Given the description of an element on the screen output the (x, y) to click on. 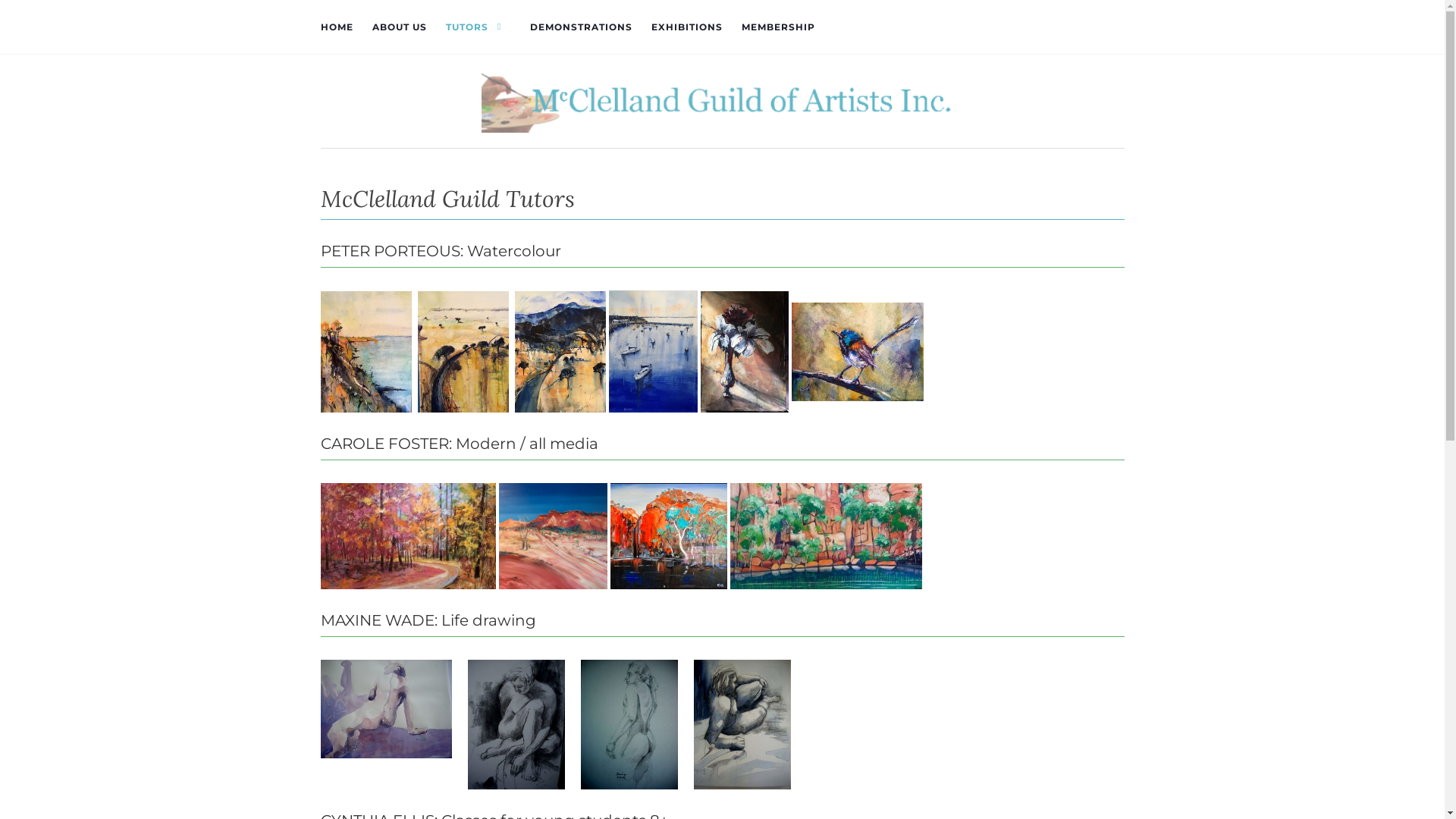
ABOUT US Element type: text (398, 26)
TUTORS Element type: text (478, 26)
MEMBERSHIP Element type: text (778, 26)
DEMONSTRATIONS Element type: text (580, 26)
EXHIBITIONS Element type: text (685, 26)
HOME Element type: text (336, 26)
